Given the description of an element on the screen output the (x, y) to click on. 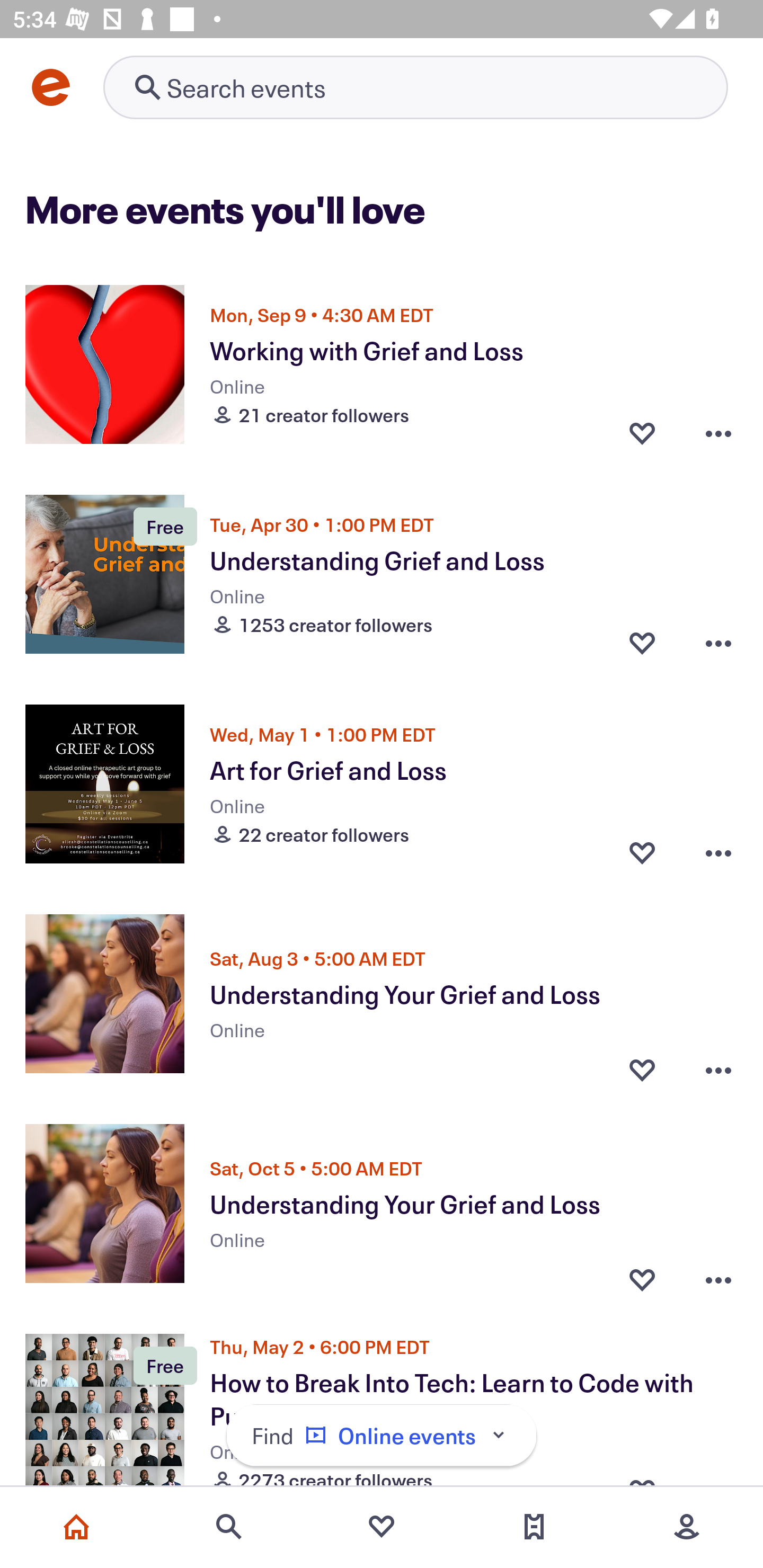
Retry's image Search events (415, 86)
Favorite button (642, 431)
Overflow menu button (718, 431)
Favorite button (642, 641)
Overflow menu button (718, 641)
Favorite button (642, 852)
Overflow menu button (718, 852)
Favorite button (642, 1065)
Overflow menu button (718, 1065)
Favorite button (642, 1274)
Overflow menu button (718, 1274)
Find Online events (381, 1435)
Home (76, 1526)
Search events (228, 1526)
Favorites (381, 1526)
Tickets (533, 1526)
More (686, 1526)
